Given the description of an element on the screen output the (x, y) to click on. 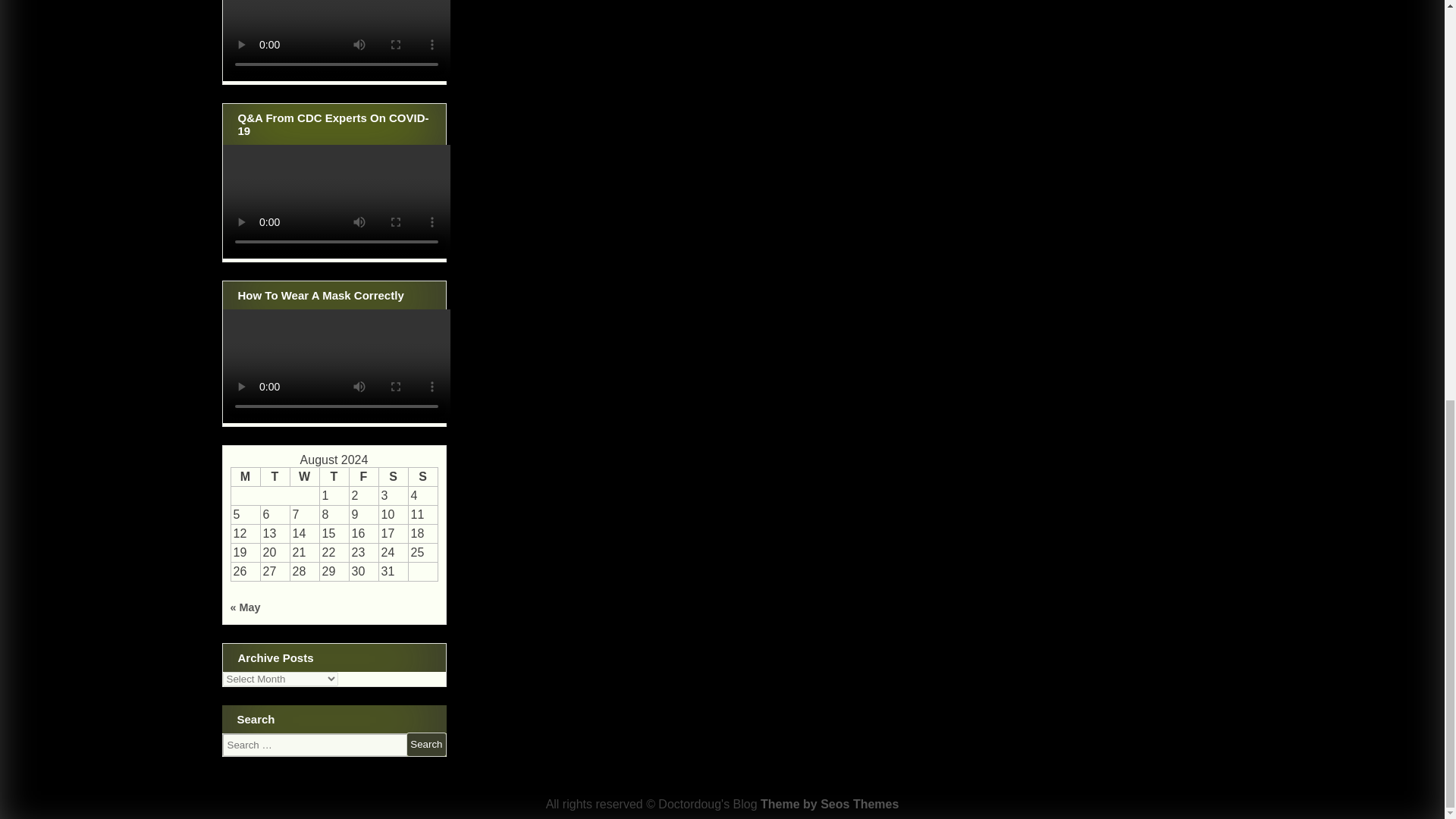
Fullscreen (426, 52)
Search (425, 744)
Play (242, 410)
Play (242, 237)
Fullscreen (426, 237)
Search (425, 744)
Theme by Seos Themes (829, 803)
Thursday (333, 476)
Mute (401, 52)
Monday (245, 476)
Search (425, 744)
Mute (401, 237)
Fullscreen (426, 410)
Tuesday (274, 476)
Play (242, 52)
